Given the description of an element on the screen output the (x, y) to click on. 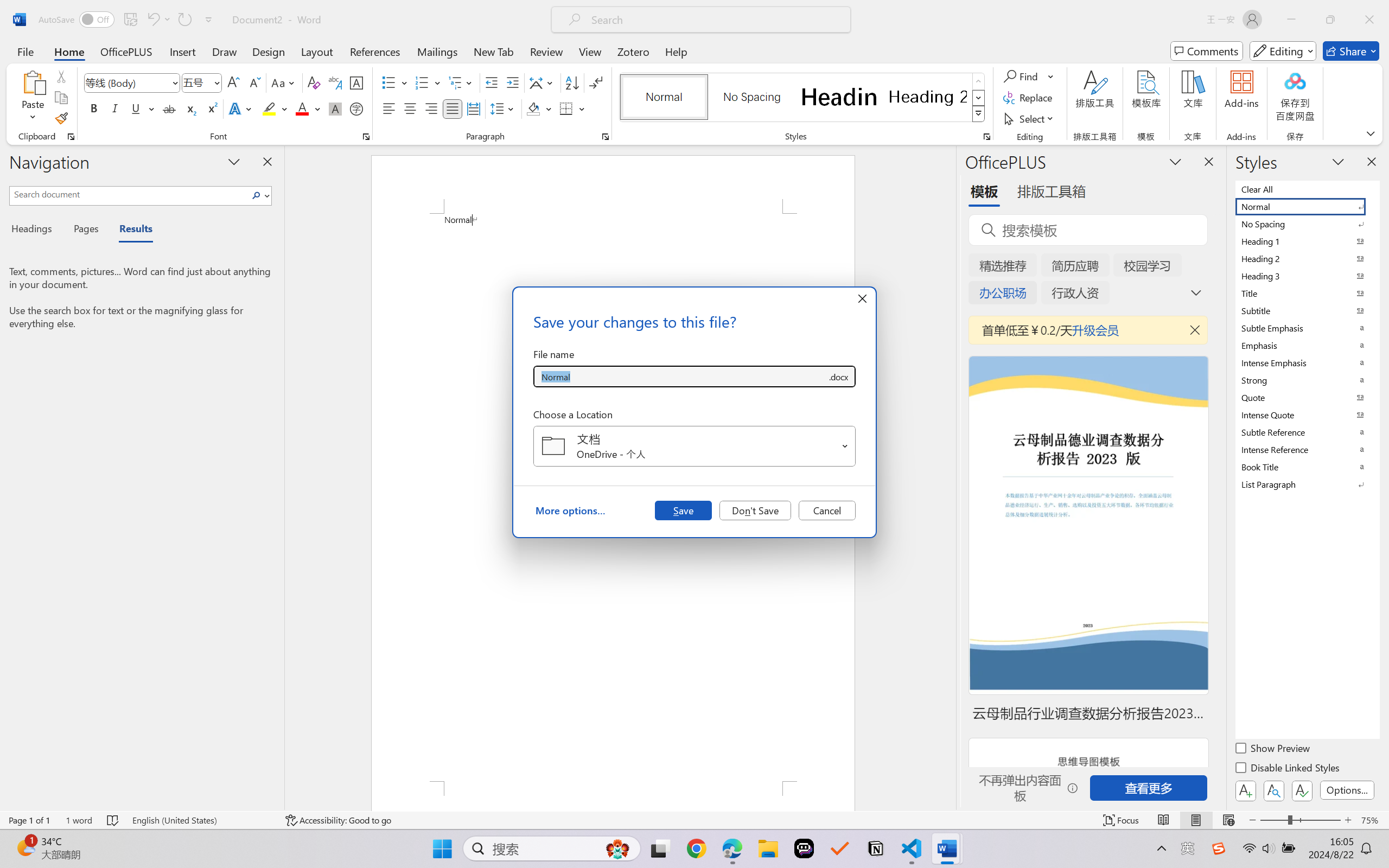
Language English (United States) (201, 819)
